Given the description of an element on the screen output the (x, y) to click on. 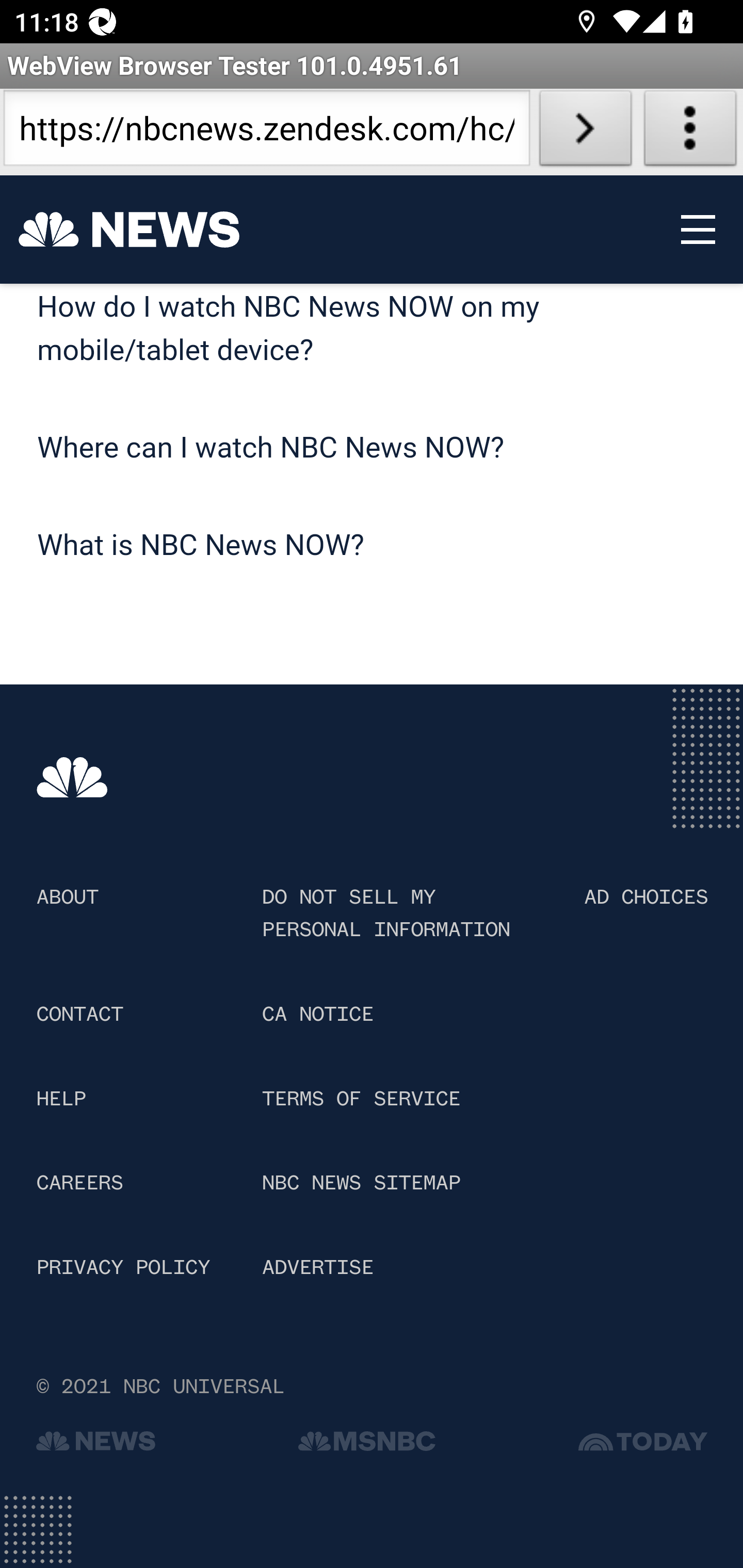
Load URL (585, 132)
About WebView (690, 132)
?icid=nav_bar_logo (128, 230)
Where can I watch NBC News NOW? (270, 449)
What is NBC News NOW? (201, 547)
www.nbcnews (72, 778)
ABOUT (67, 898)
DO NOT SELL MY PERSONAL INFORMATION (385, 913)
AD CHOICES (646, 898)
CONTACT (80, 1014)
CA NOTICE (316, 1014)
HELP (61, 1100)
TERMS OF SERVICE (359, 1100)
CAREERS (80, 1182)
NBC NEWS SITEMAP (359, 1182)
PRIVACY POLICY (123, 1267)
ADVERTISE (316, 1267)
www.nbcnews (96, 1445)
www.msnbc (366, 1445)
www.today (643, 1445)
